Given the description of an element on the screen output the (x, y) to click on. 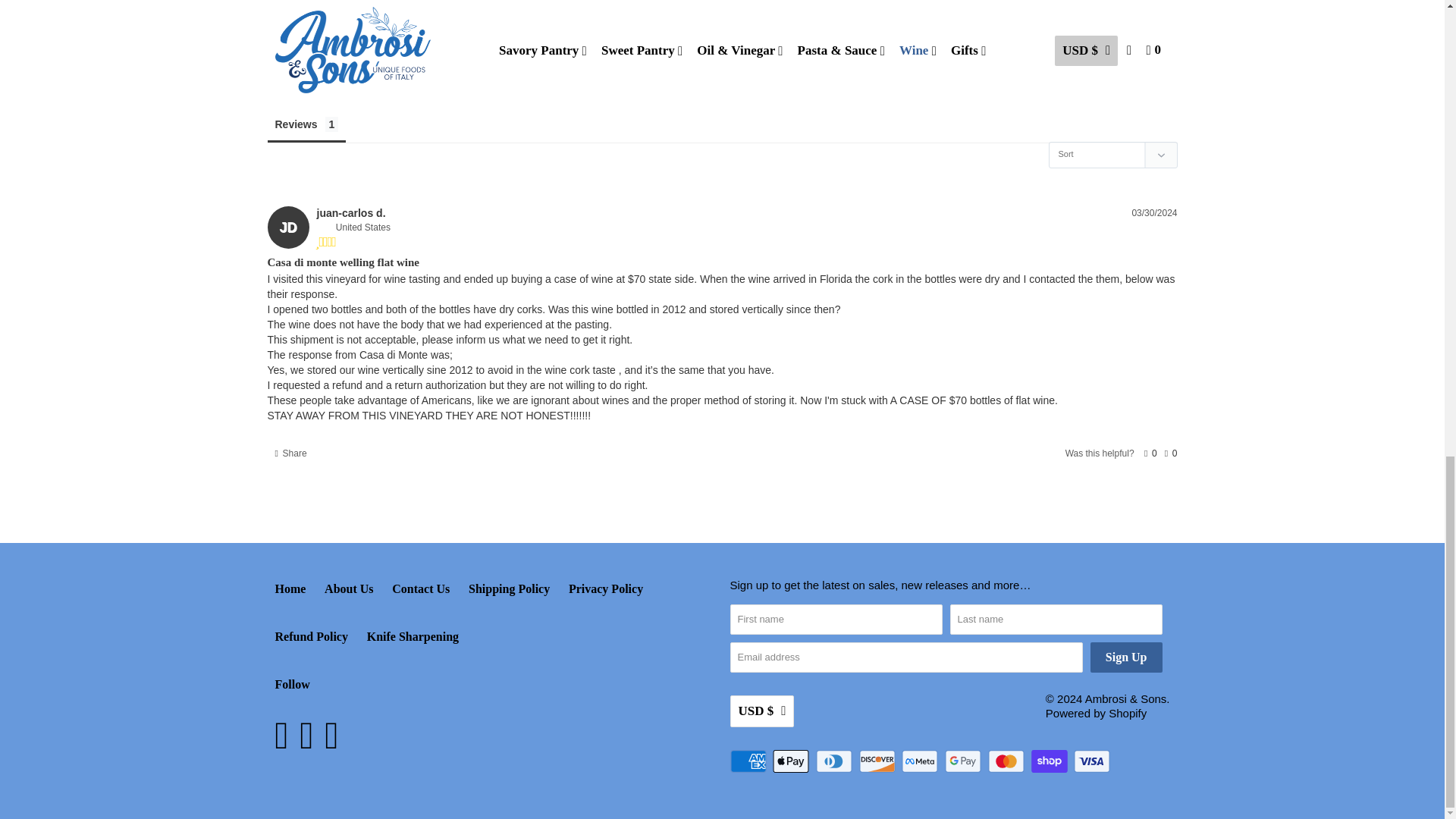
Diners Club (835, 761)
Meta Pay (920, 761)
Discover (878, 761)
Visa (1093, 761)
Apple Pay (792, 761)
Sign Up (1125, 657)
Mastercard (1007, 761)
American Express (748, 761)
Shop Pay (1050, 761)
Google Pay (964, 761)
